Given the description of an element on the screen output the (x, y) to click on. 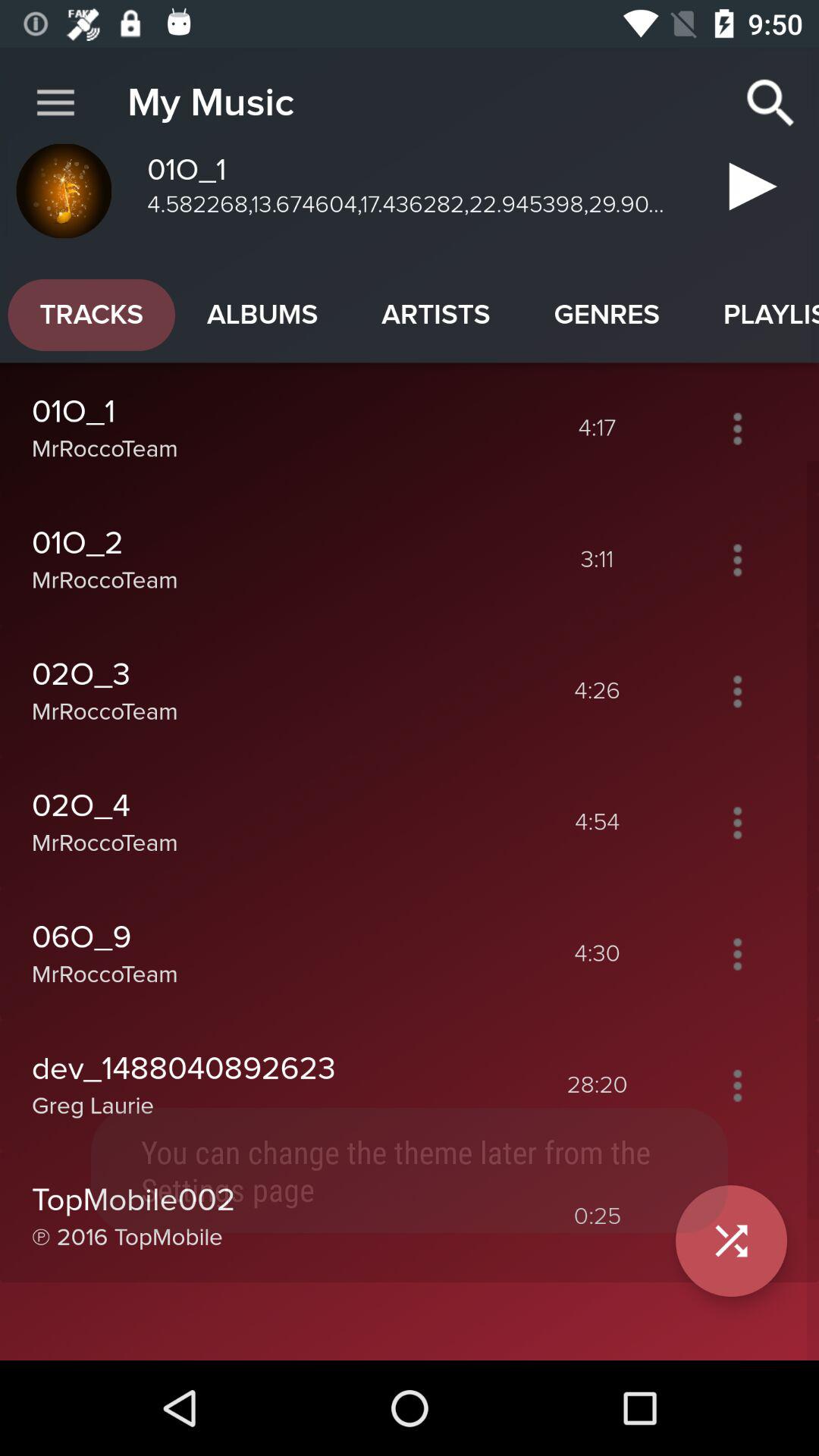
open options (737, 953)
